Given the description of an element on the screen output the (x, y) to click on. 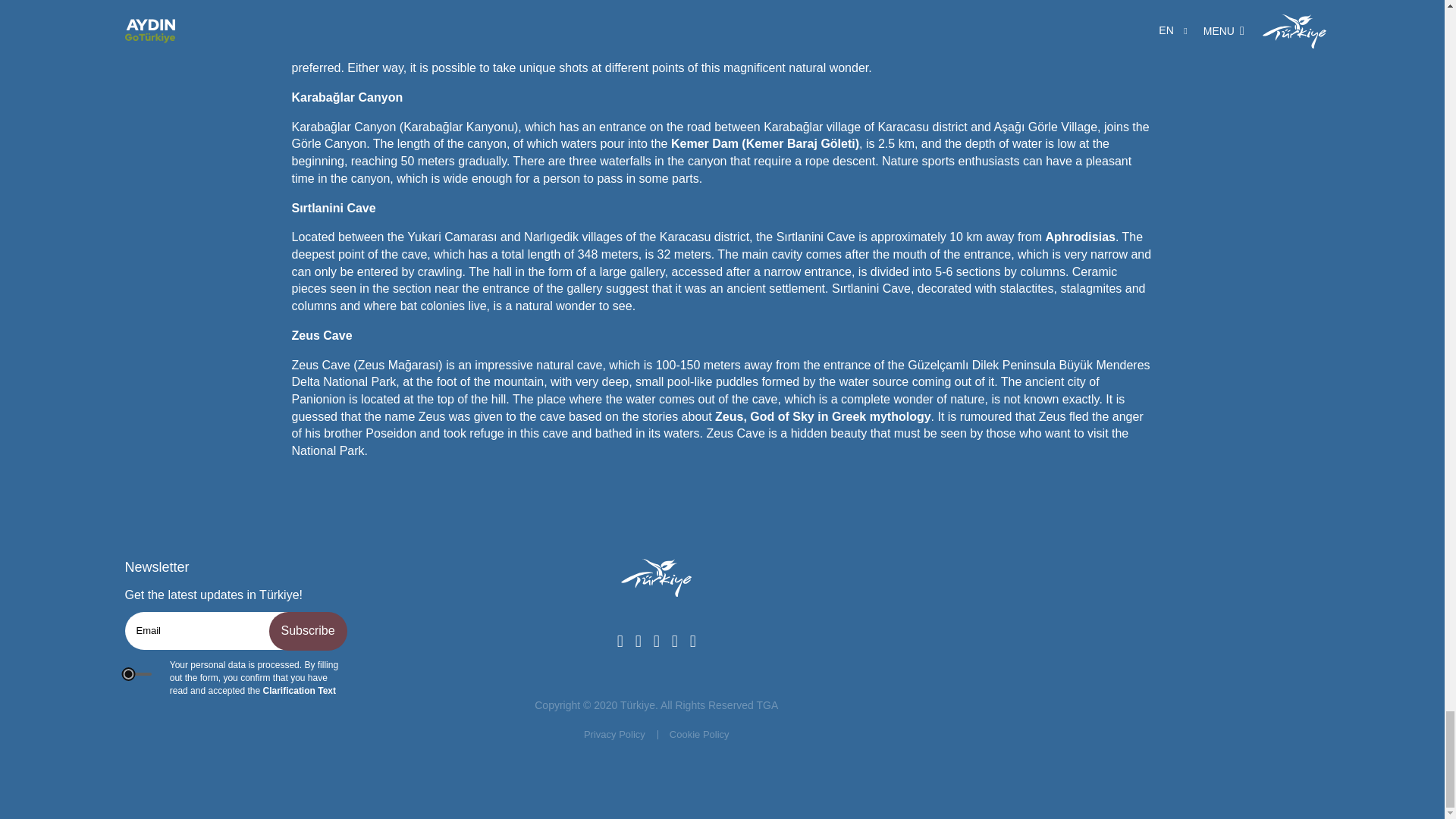
Privacy Policy (614, 735)
Cookie Policy (699, 735)
Clarification Text (298, 690)
Subscribe (306, 630)
